Given the description of an element on the screen output the (x, y) to click on. 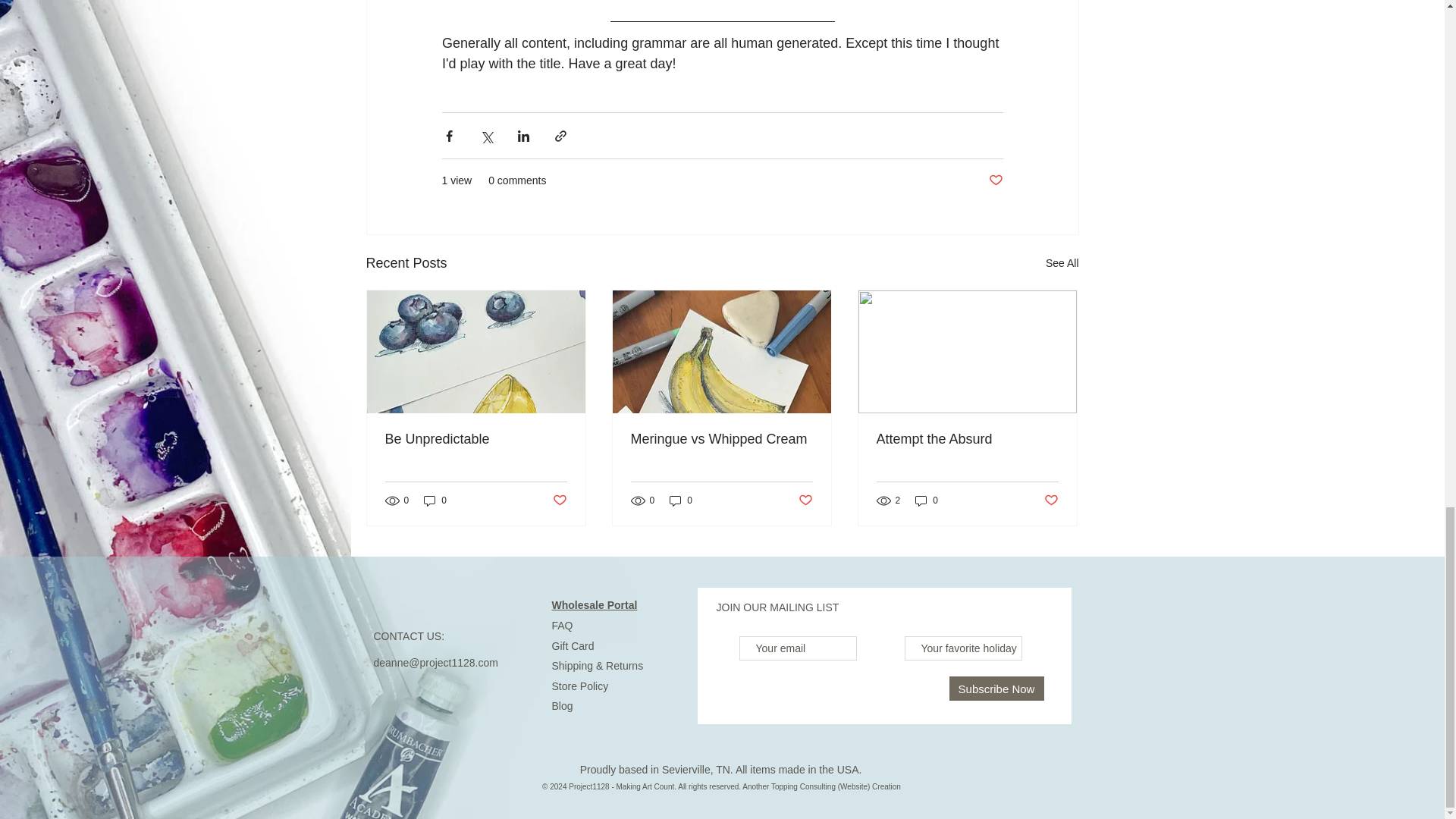
Post not marked as liked (804, 500)
Gift Card (572, 645)
0 (681, 500)
Post not marked as liked (1050, 500)
Be Unpredictable (476, 439)
Post not marked as liked (558, 500)
See All (1061, 263)
Meringue vs Whipped Cream (721, 439)
0 (926, 500)
Post not marked as liked (995, 180)
Wholesale Portal (594, 604)
Attempt the Absurd (967, 439)
FAQ (562, 625)
0 (435, 500)
